Given the description of an element on the screen output the (x, y) to click on. 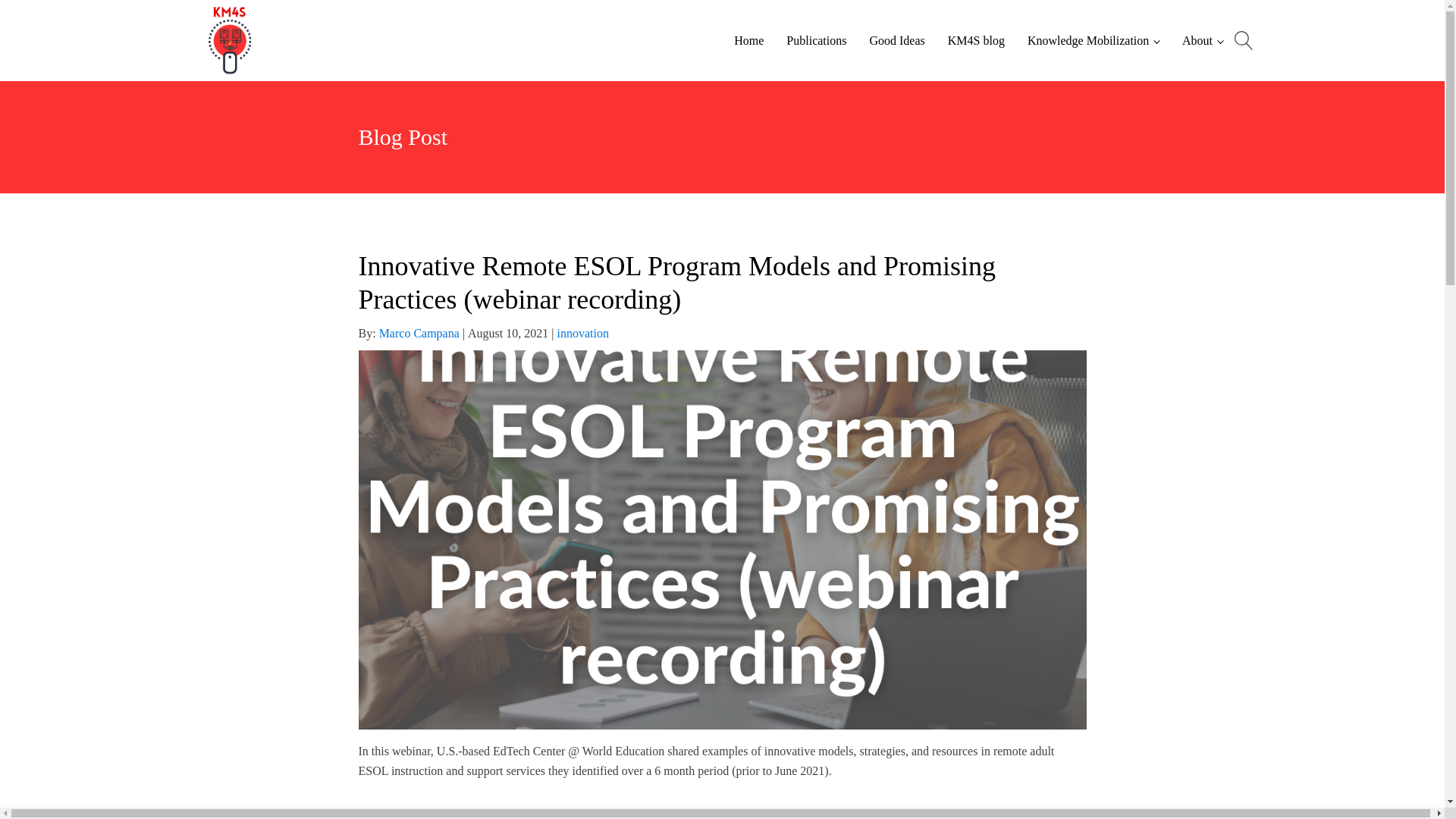
Knowledge Mobilization (1092, 40)
Marco Campana (419, 332)
About (1202, 40)
KM4S blog (975, 40)
innovation (582, 332)
Good Ideas (896, 40)
Publications (815, 40)
Home (747, 40)
